Given the description of an element on the screen output the (x, y) to click on. 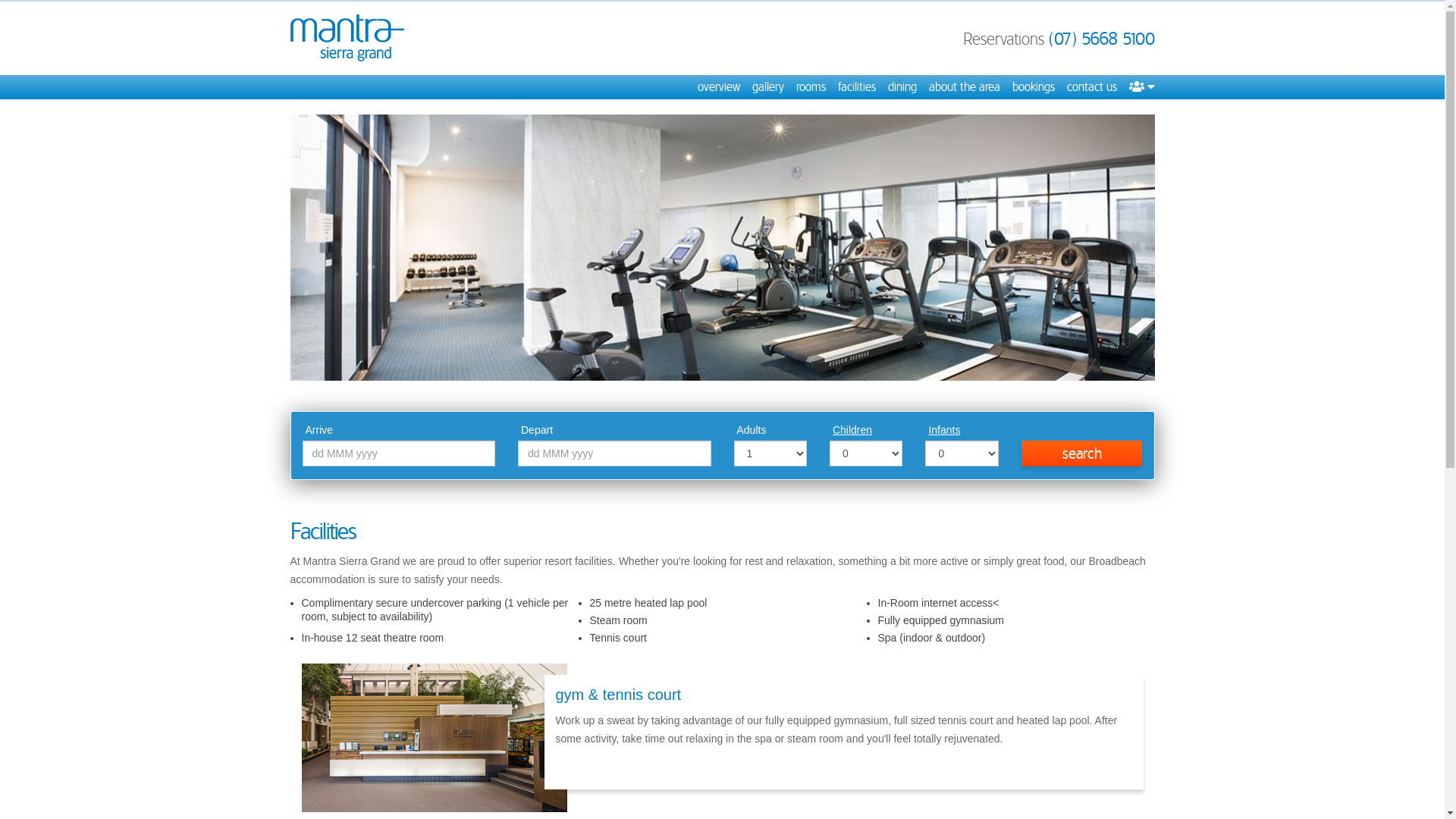
Mantra Sierra Grand Element type: hover (346, 37)
search Element type: text (1081, 453)
Gymnasium - Mantra Sierra Grand Element type: hover (721, 247)
contact us Element type: text (1091, 87)
bookings Element type: text (1032, 87)
overview Element type: text (718, 87)
facilities Element type: text (856, 87)
(07) 5668 5100 Element type: text (1101, 38)
gallery Element type: text (768, 87)
about the area Element type: text (963, 87)
rooms Element type: text (810, 87)
dining Element type: text (901, 87)
